Given the description of an element on the screen output the (x, y) to click on. 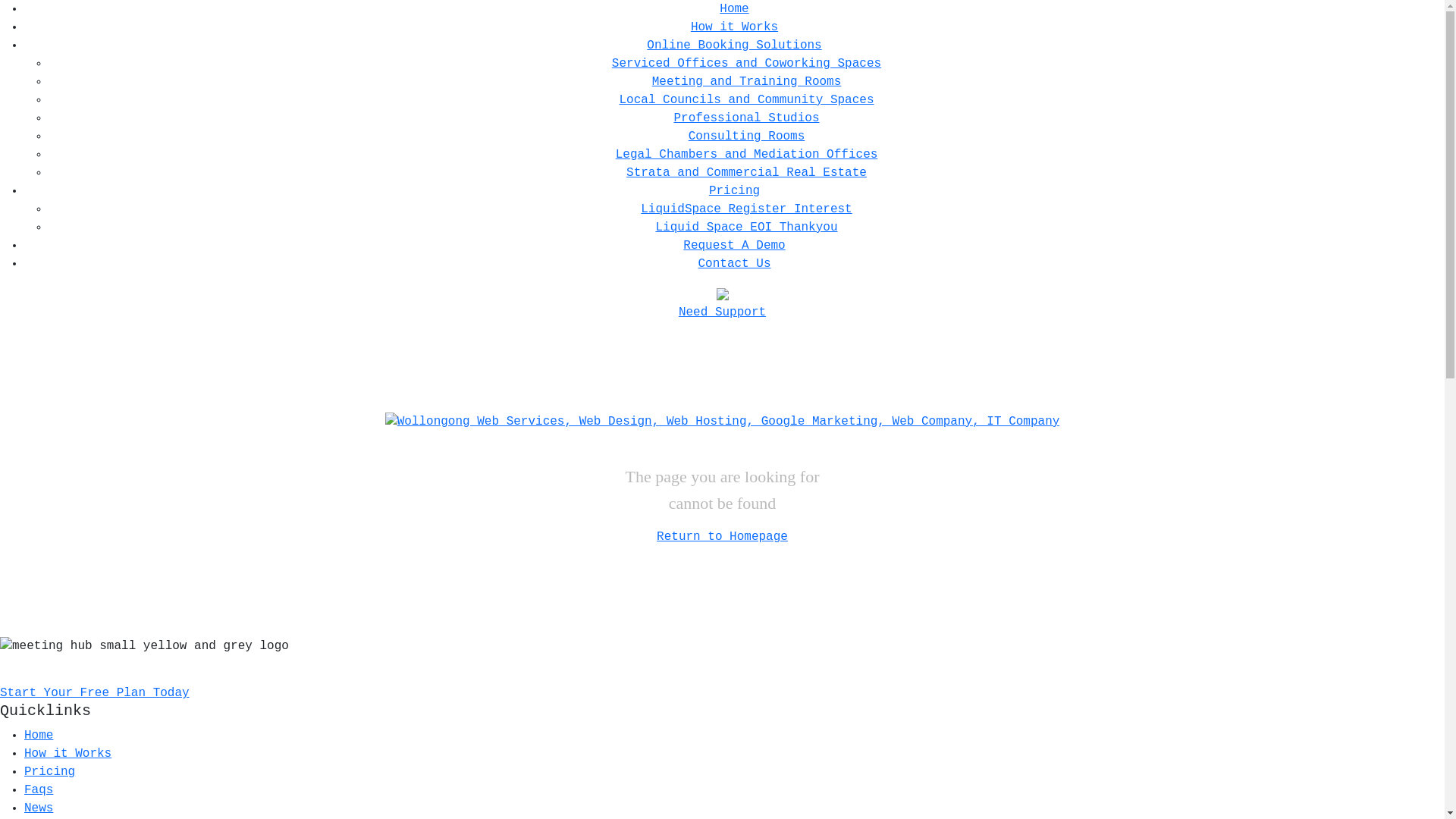
Meeting and Training Rooms Element type: text (746, 81)
Serviced Offices and Coworking Spaces Element type: text (746, 63)
Faqs Element type: text (38, 790)
Liquid Space EOI Thankyou Element type: text (746, 227)
Need Support Element type: text (721, 312)
Professional Studios Element type: text (746, 118)
How it Works Element type: text (67, 753)
Home Element type: text (38, 735)
Local Councils and Community Spaces Element type: text (745, 99)
Pricing Element type: text (49, 771)
Online Booking Solutions Element type: text (733, 45)
Strata and Commercial Real Estate Element type: text (746, 172)
News Element type: text (38, 808)
Contact Us Element type: text (733, 263)
Pricing Element type: text (734, 190)
LiquidSpace Register Interest Element type: text (745, 209)
Return to Homepage Element type: text (721, 536)
How it Works Element type: text (734, 27)
Start Your Free Plan Today Element type: text (94, 692)
Consulting Rooms Element type: text (746, 136)
Request A Demo Element type: text (733, 245)
Home Element type: text (733, 8)
Legal Chambers and Mediation Offices Element type: text (746, 154)
